Given the description of an element on the screen output the (x, y) to click on. 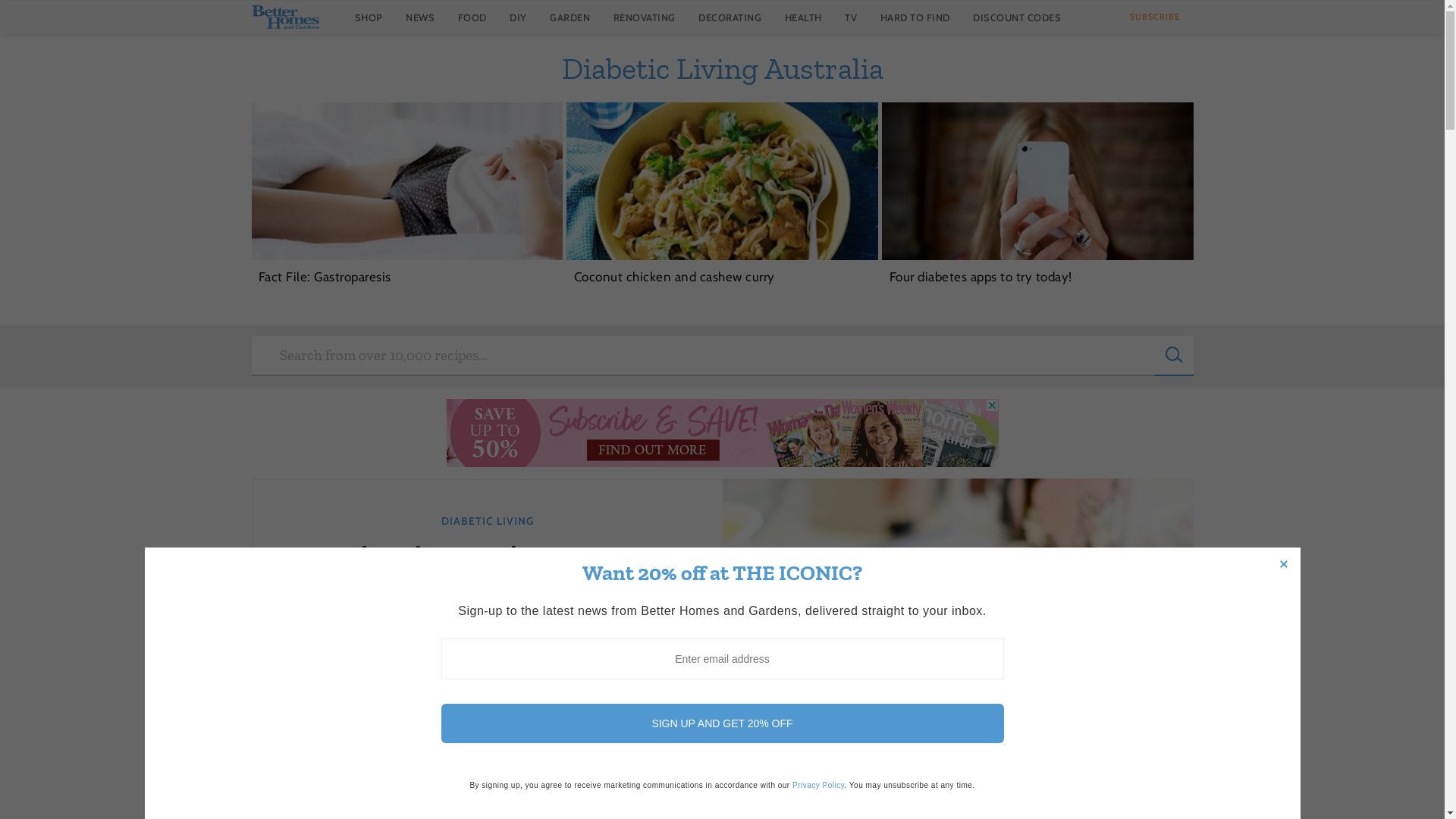
DIY Element type: text (518, 16)
FOOD Element type: text (758, 794)
Fact File: Gastroparesis Element type: text (405, 181)
RENOVATING Element type: text (643, 16)
TV Element type: text (850, 16)
FOOD Element type: text (471, 16)
Coconut chicken and cashew curry Element type: text (721, 181)
Four diabetes apps to try today! Element type: text (1036, 181)
HARD TO FIND Element type: text (914, 16)
GARDEN Element type: text (569, 16)
HEALTH Element type: text (802, 16)
DECORATING Element type: text (729, 16)
SHOP Element type: text (368, 16)
DISCOUNT CODES Element type: text (1016, 16)
NEWS Element type: text (419, 16)
3rd party ad content Element type: hover (721, 432)
Privacy Policy Element type: text (818, 785)
SIGN UP AND GET 20% OFF Element type: text (722, 723)
SUBSCRIBE Element type: text (1153, 16)
